Given the description of an element on the screen output the (x, y) to click on. 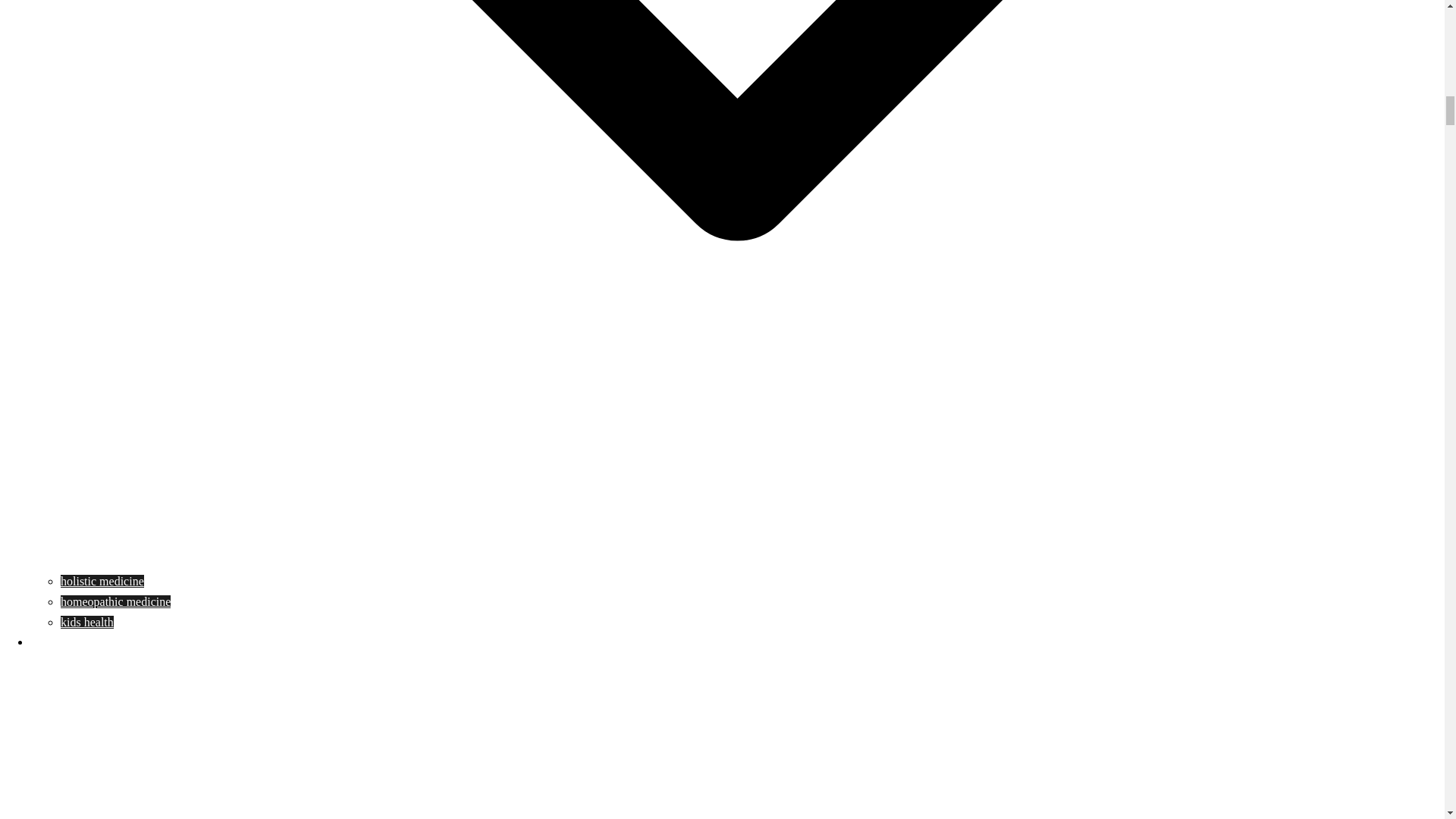
holistic medicine (102, 581)
E-Health (52, 641)
kids health (87, 621)
homeopathic medicine (115, 601)
